Given the description of an element on the screen output the (x, y) to click on. 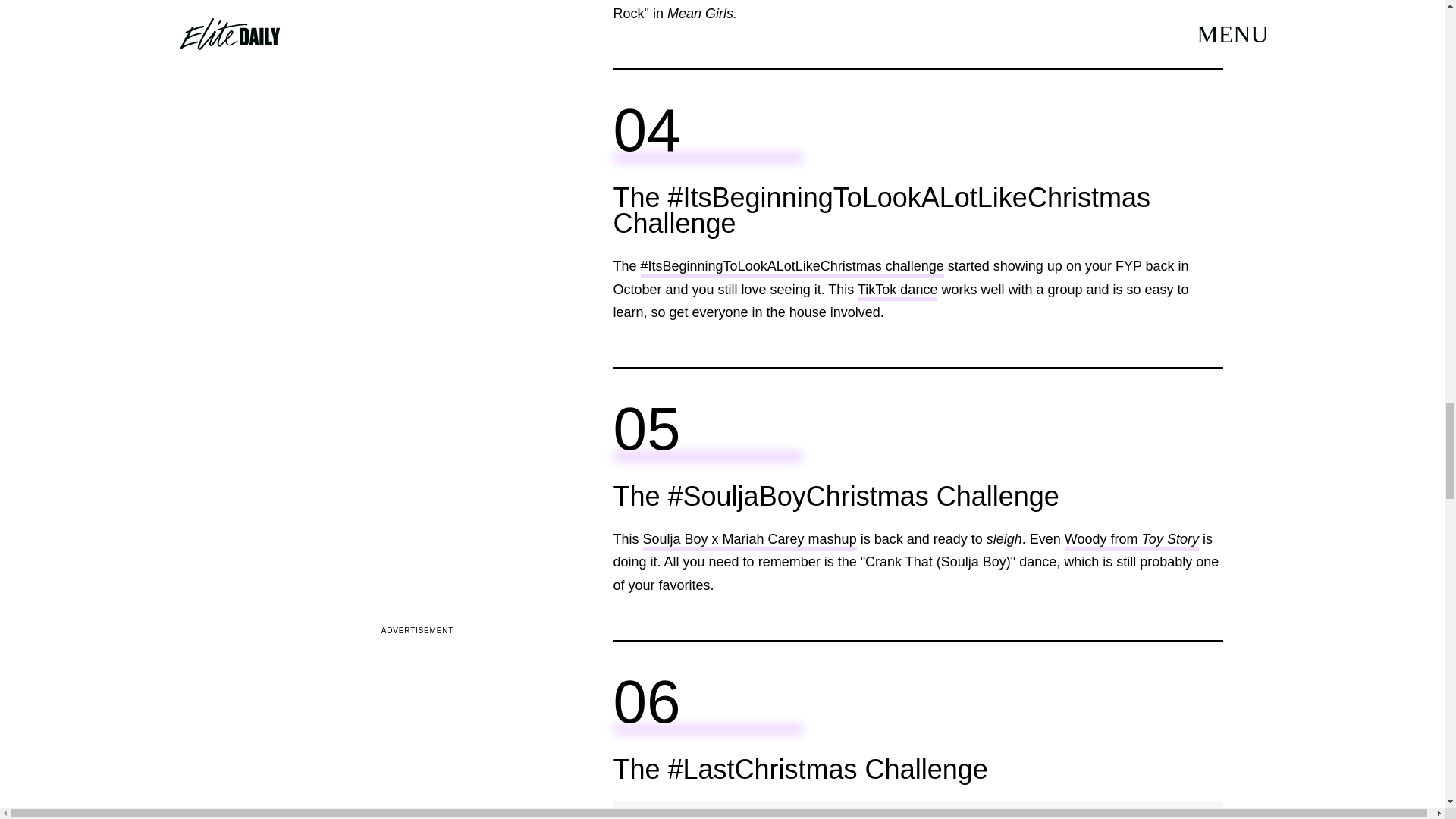
Soulja Boy x Mariah Carey mashup (750, 540)
TikTok dance (897, 291)
Woody from (1102, 540)
Toy Story (1169, 540)
